Given the description of an element on the screen output the (x, y) to click on. 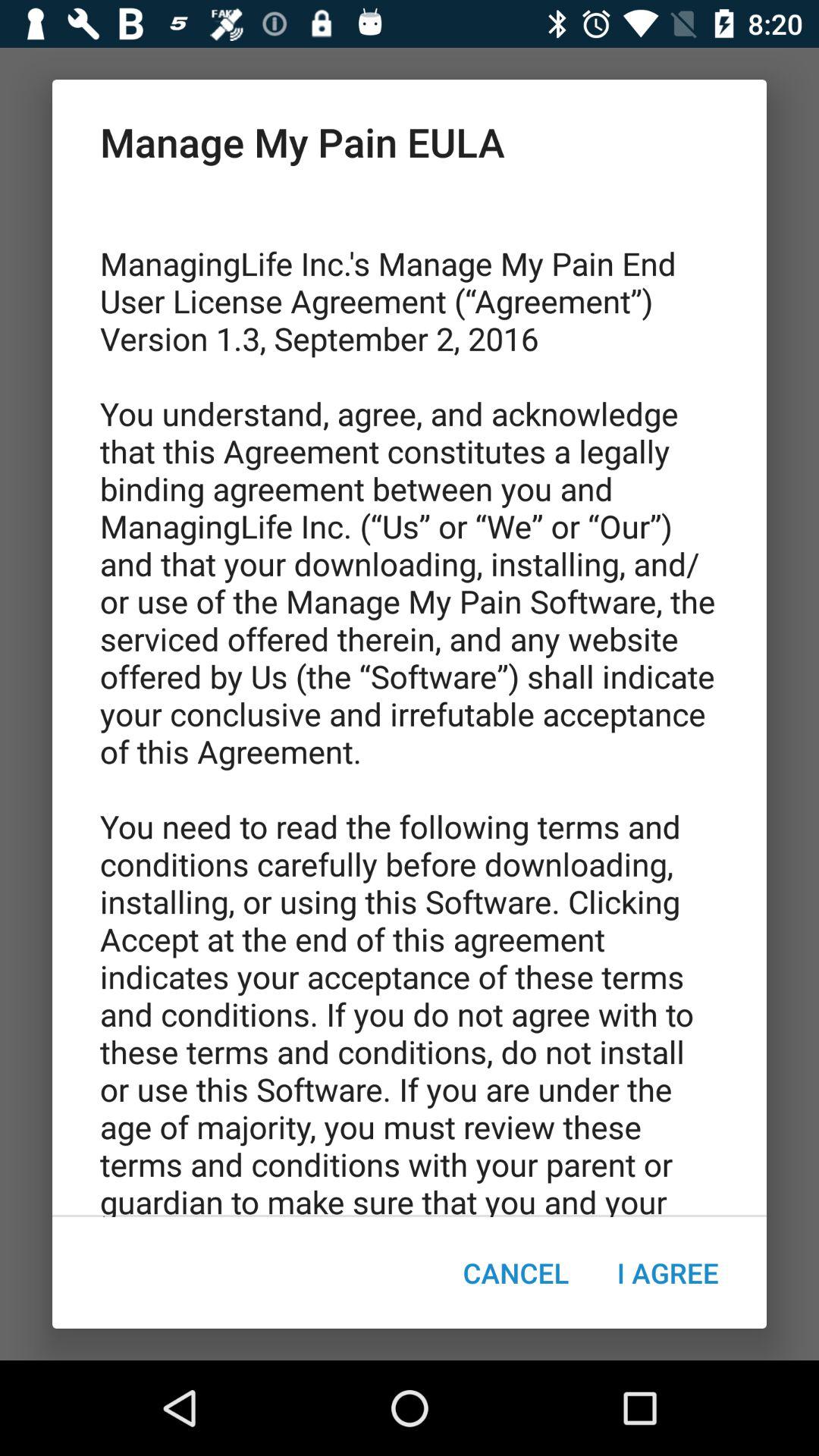
press icon next to i agree icon (516, 1272)
